Given the description of an element on the screen output the (x, y) to click on. 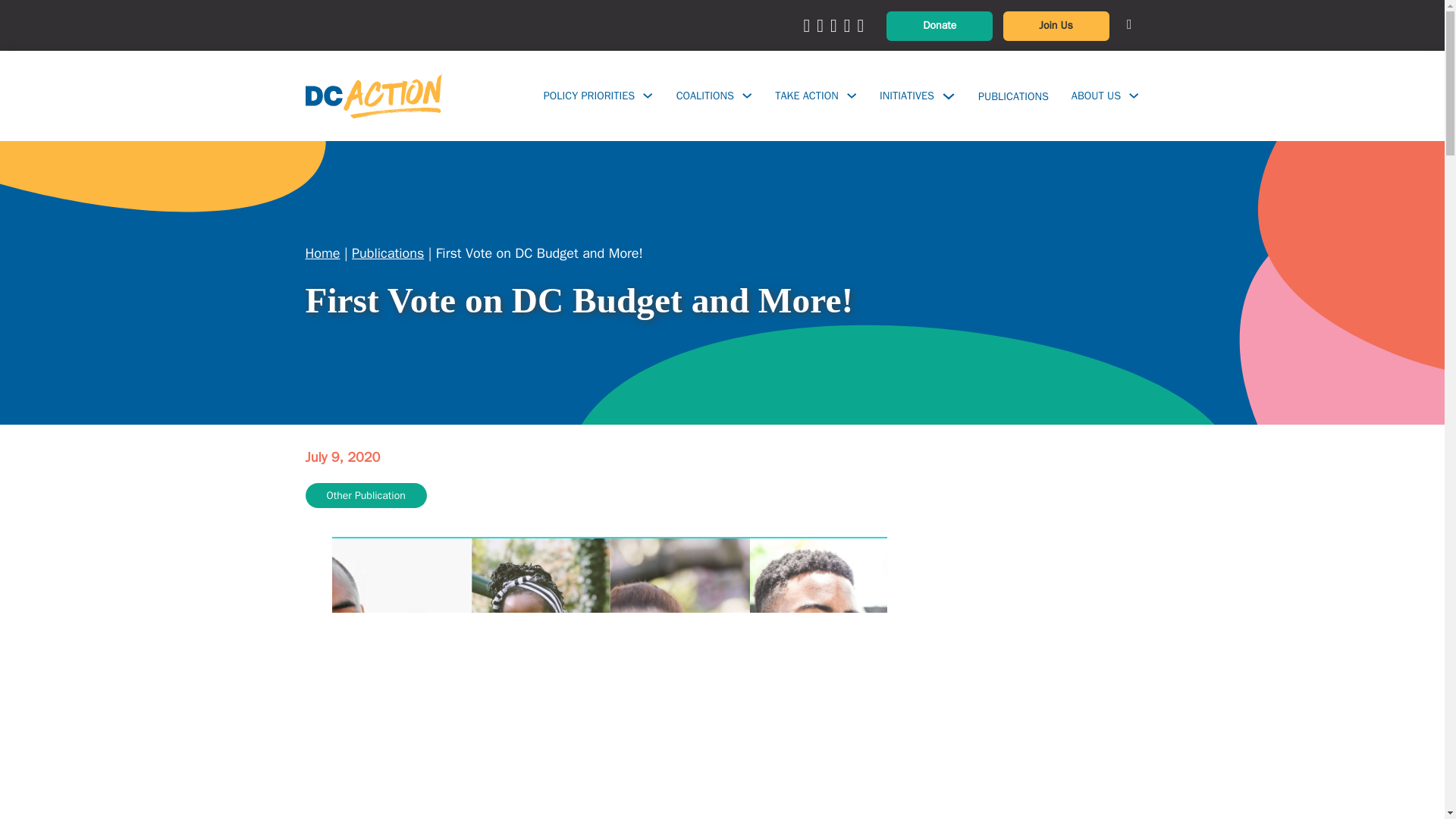
Join Us (1056, 25)
COALITIONS (705, 95)
Donate (939, 25)
INITIATIVES (906, 95)
TAKE ACTION (806, 95)
POLICY PRIORITIES (588, 95)
